Given the description of an element on the screen output the (x, y) to click on. 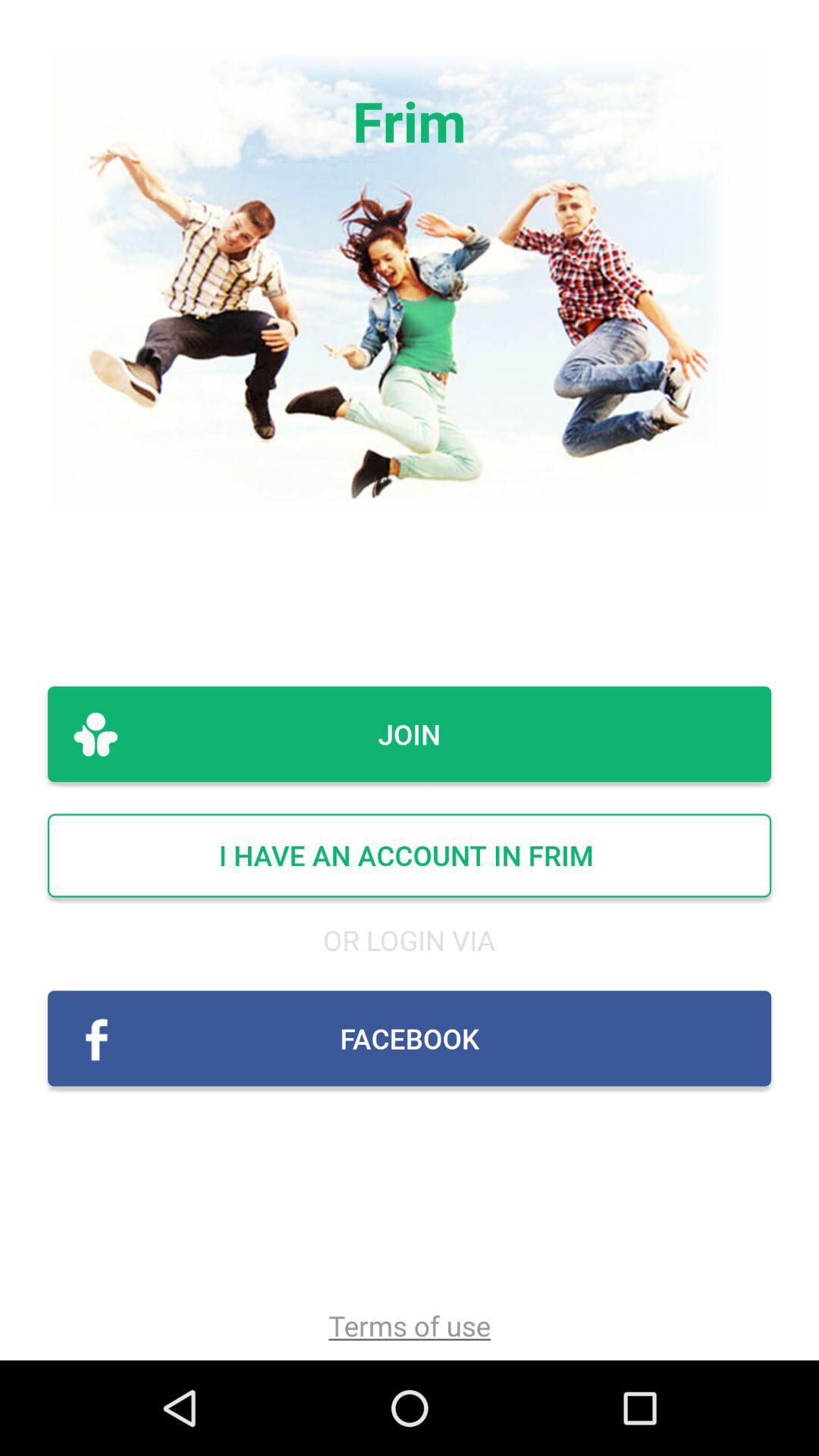
open i have an icon (409, 855)
